Given the description of an element on the screen output the (x, y) to click on. 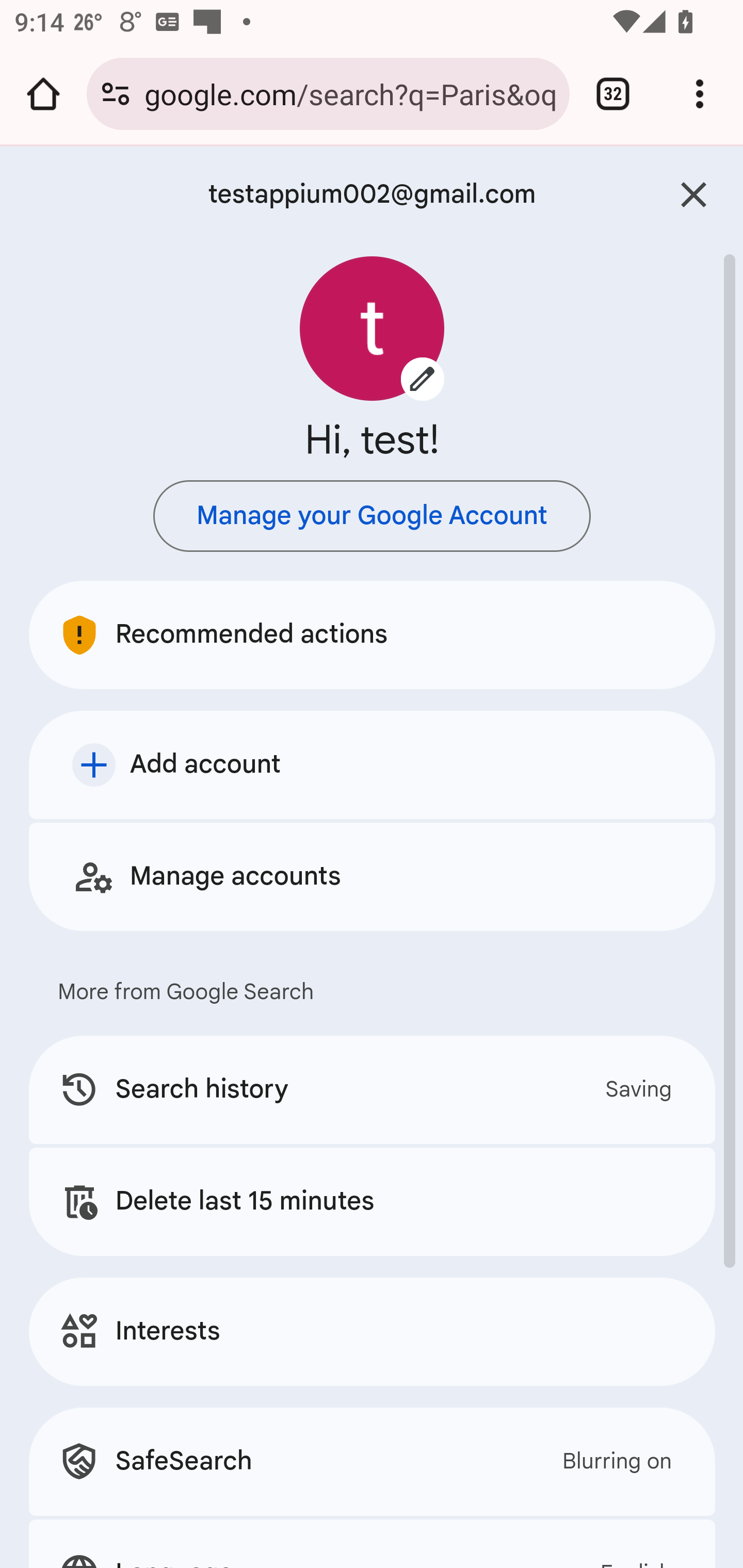
Open the home page (43, 93)
Connection is secure (115, 93)
Switch or close tabs (612, 93)
Customize and control Google Chrome (699, 93)
Close menu (694, 195)
Change profile picture (372, 328)
Manage your Google Account (371, 515)
Recommended actions (372, 633)
Add account (372, 764)
Manage accounts (372, 876)
Delete last 15 minutes (372, 1200)
interests Interests interests Interests (372, 1331)
